Given the description of an element on the screen output the (x, y) to click on. 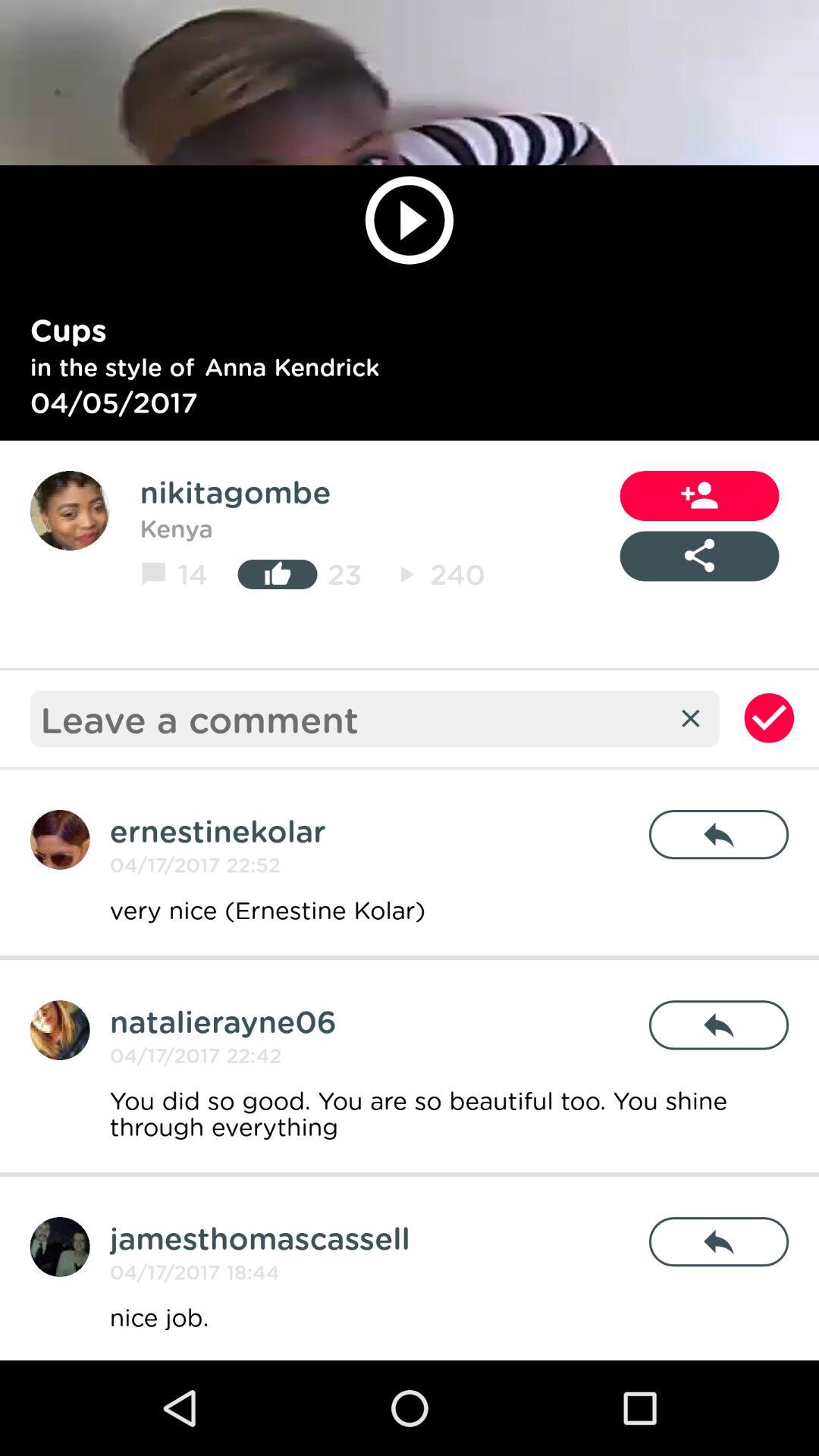
launch nikitagombe icon (235, 490)
